Given the description of an element on the screen output the (x, y) to click on. 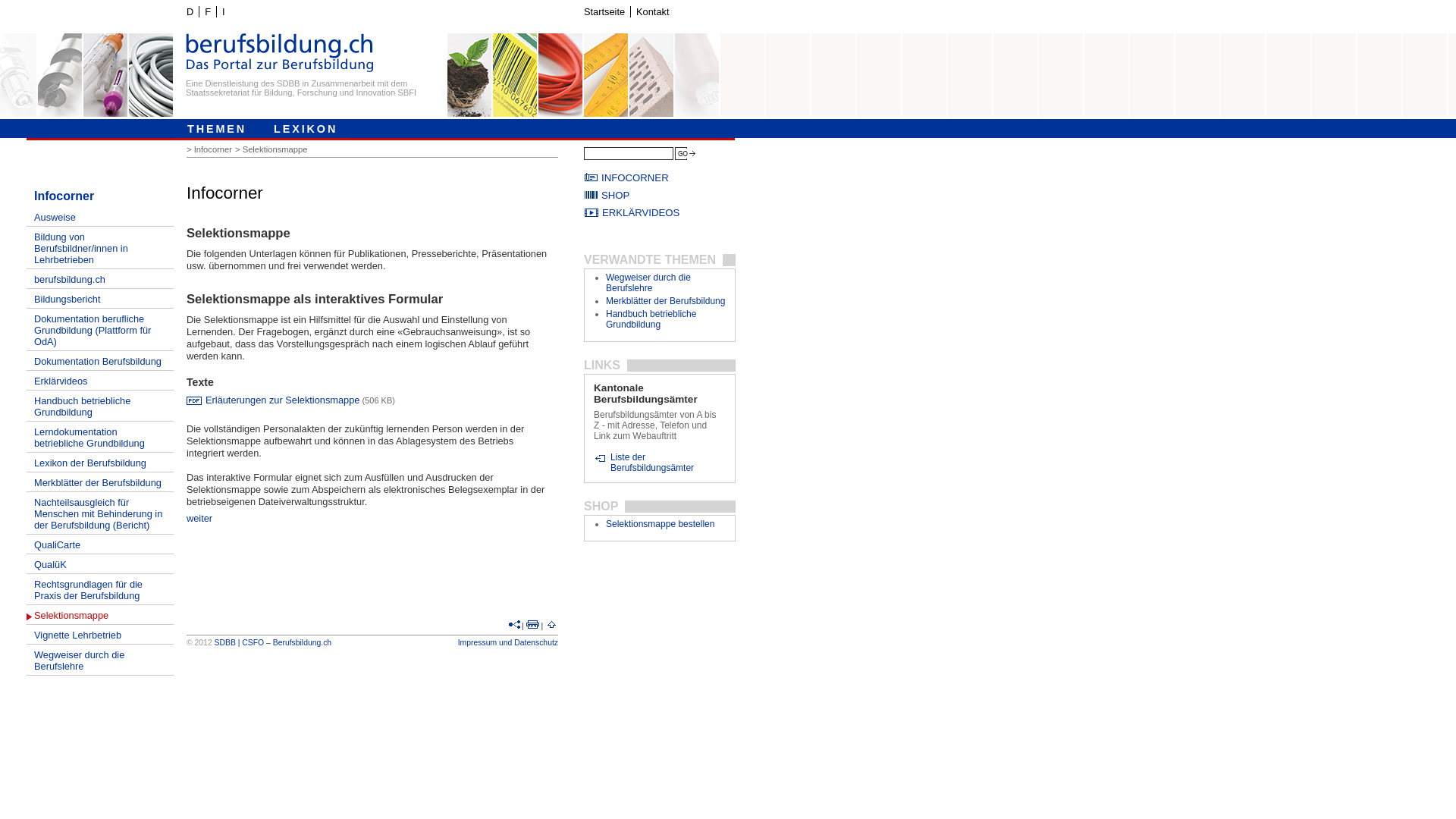
Selektionsmappe Element type: text (276, 148)
THEMEN Element type: text (216, 126)
Bildungsbericht Element type: text (99, 298)
Handbuch betriebliche Grundbildung Element type: text (99, 405)
QualiCarte Element type: text (99, 544)
SHOP Element type: text (659, 195)
Vignette Lehrbetrieb Element type: text (99, 634)
Startseite Element type: text (603, 11)
D Element type: text (189, 11)
berufsbildung.ch Element type: text (99, 278)
Selektionsmappe Element type: text (99, 614)
LEXIKON Element type: text (305, 126)
Ausweise Element type: text (99, 216)
Berufsbildung.ch Element type: text (302, 642)
weiter Element type: text (199, 518)
Dokumentation Berufsbildung Element type: text (99, 360)
F Element type: text (207, 11)
Bildung von Berufsbildner/innen in Lehrbetrieben Element type: text (99, 247)
I Element type: text (223, 11)
Infocorner Element type: text (214, 148)
  Element type: text (513, 625)
Handbuch betriebliche Grundbildung Element type: text (650, 318)
Kontakt Element type: text (652, 11)
Wegweiser durch die Berufslehre Element type: text (647, 282)
INFOCORNER Element type: text (659, 177)
Seitenanfang Element type: hover (551, 625)
SDBB | CSFO Element type: text (239, 642)
Infocorner Element type: text (99, 196)
Seite drucken Element type: hover (532, 625)
Lerndokumentation betriebliche Grundbildung Element type: text (99, 436)
Selektionsmappe bestellen Element type: text (659, 523)
Lexikon der Berufsbildung Element type: text (99, 462)
Wegweiser durch die Berufslehre Element type: text (99, 659)
Impressum und Datenschutz Element type: text (508, 642)
Teilen Element type: hover (513, 625)
